Given the description of an element on the screen output the (x, y) to click on. 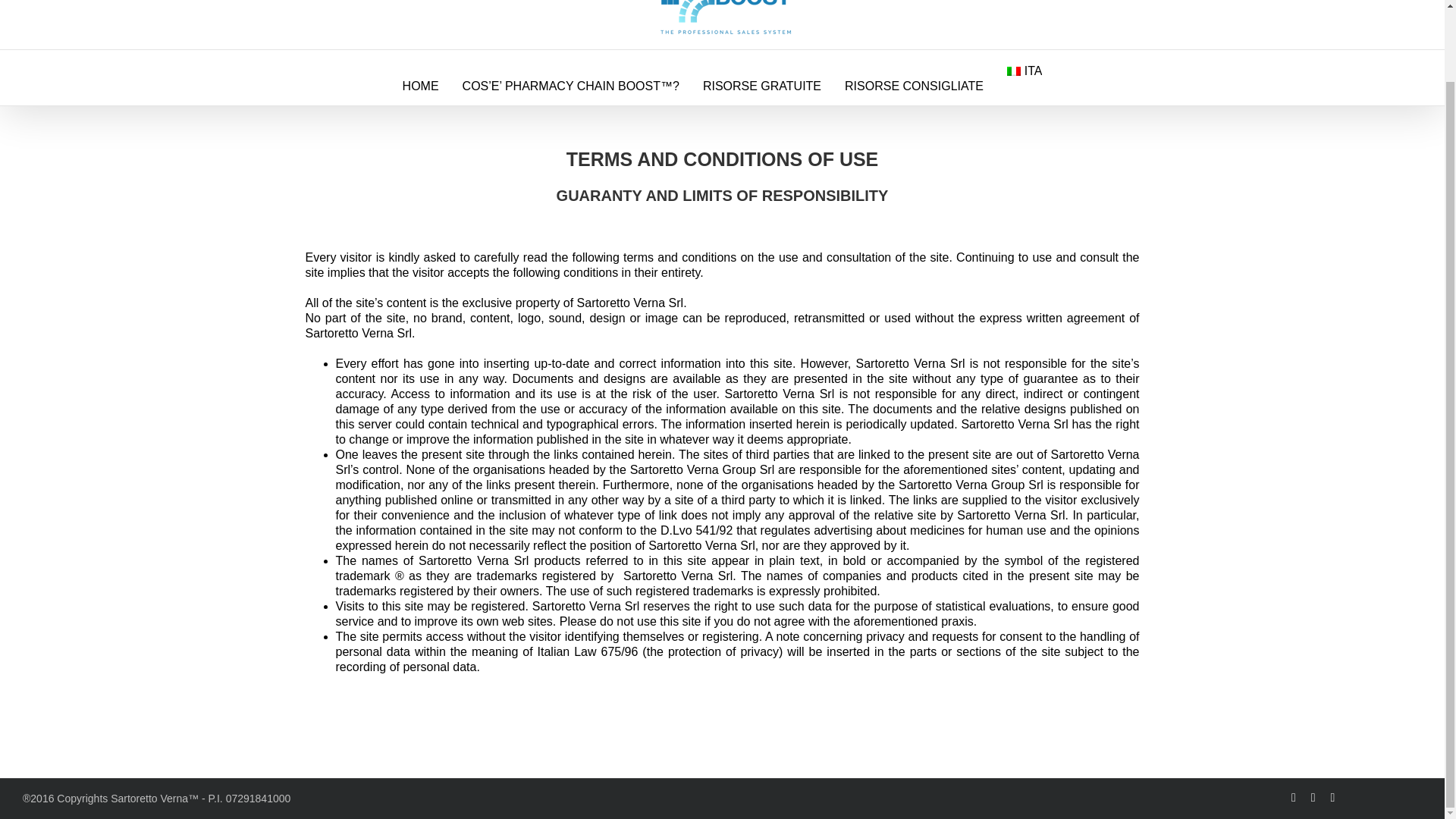
HOME (421, 85)
RISORSE GRATUITE (762, 85)
RISORSE CONSIGLIATE (914, 85)
